Given the description of an element on the screen output the (x, y) to click on. 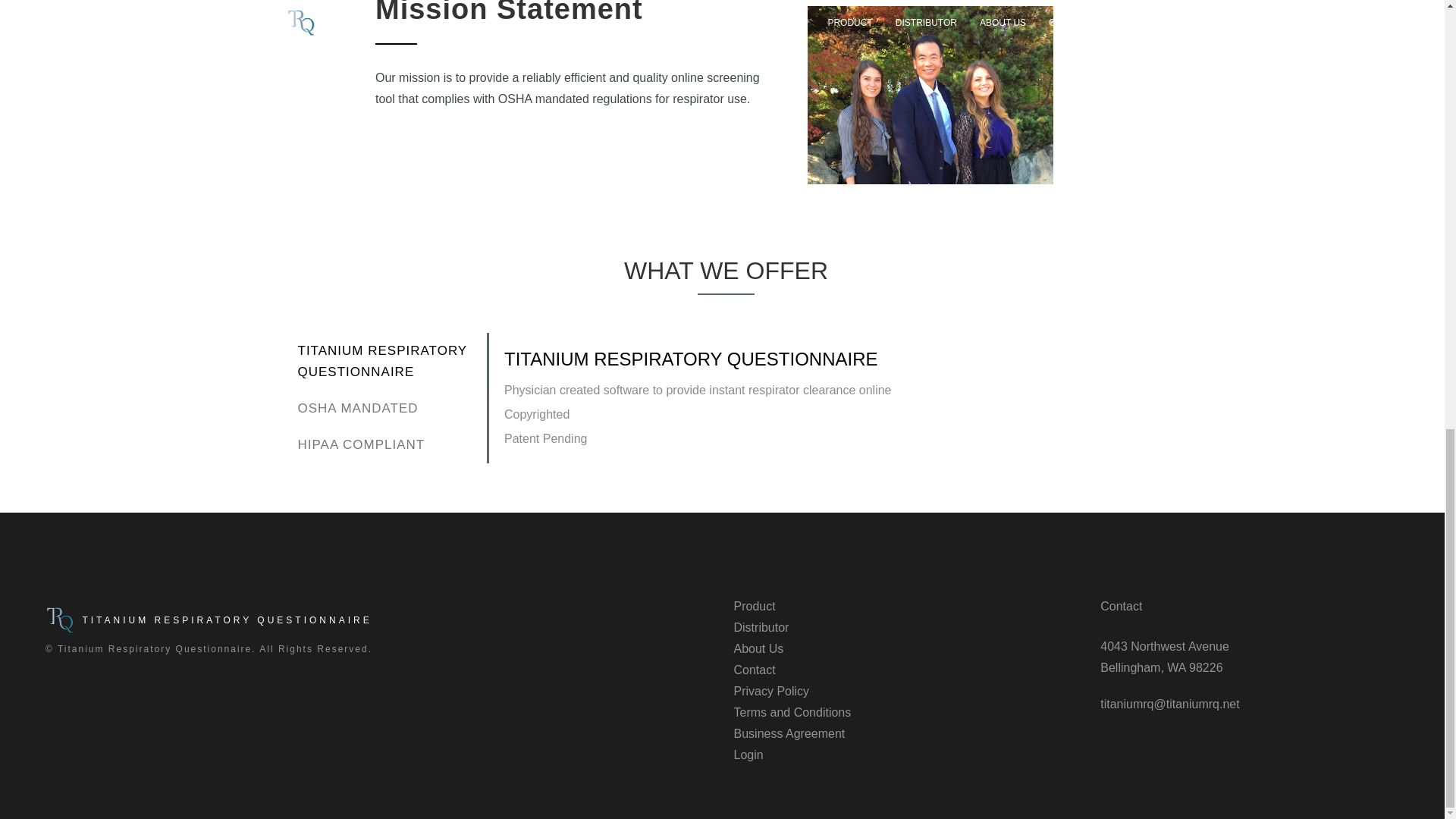
HIPAA COMPLIANT (389, 444)
TITANIUM RESPIRATORY QUESTIONNAIRE (389, 361)
Business Agreement (789, 733)
Contact (754, 669)
Distributor (761, 626)
Privacy Policy (771, 690)
Product (754, 605)
Terms and Conditions (792, 712)
Login (747, 754)
About Us (758, 648)
OSHA MANDATED (389, 408)
